Given the description of an element on the screen output the (x, y) to click on. 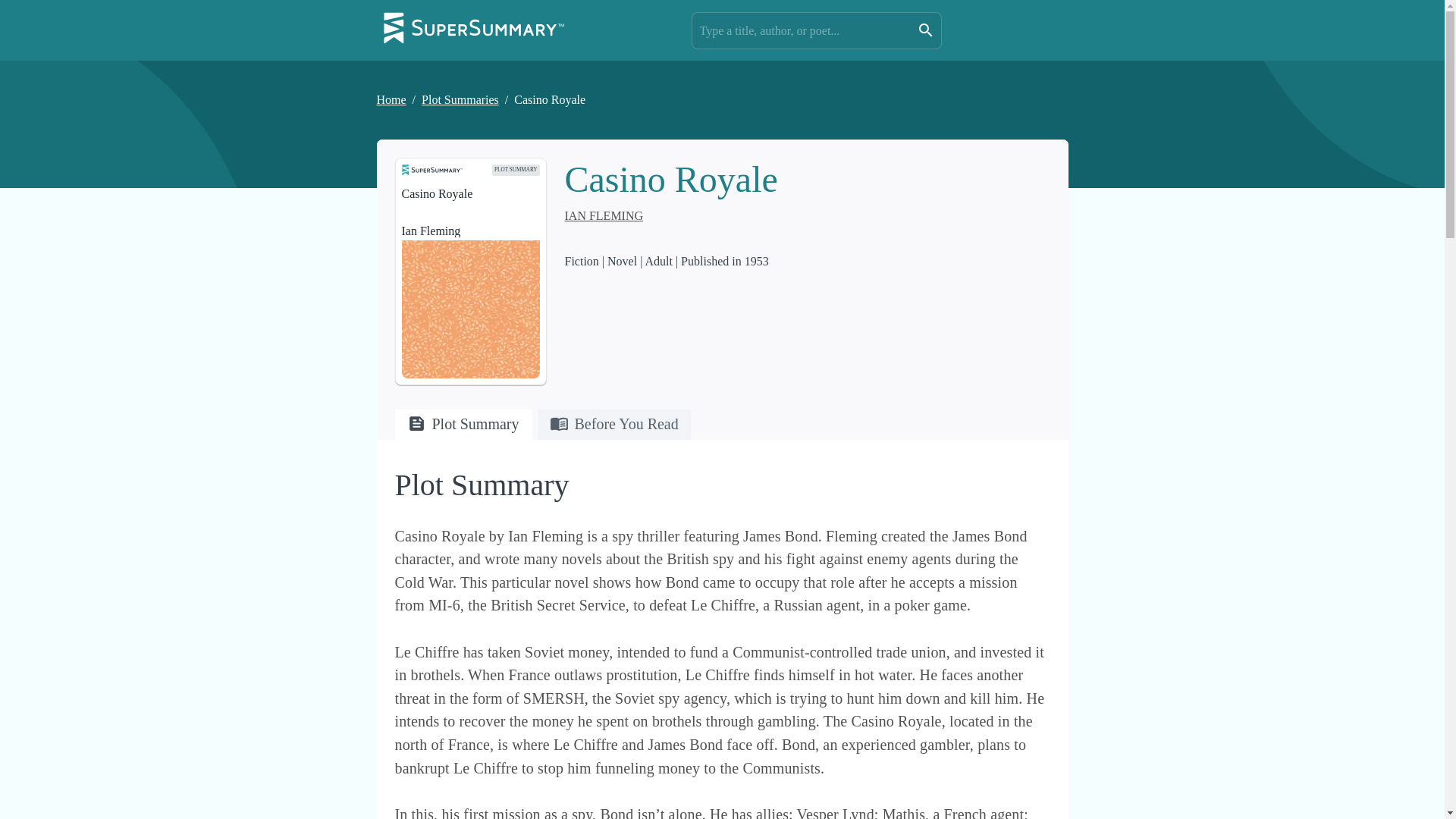
Plot Summaries (460, 99)
Before You Read (613, 424)
Go to homepage (472, 29)
Plot Summary (462, 427)
Search (925, 30)
Before You Read (613, 427)
IAN FLEMING (603, 215)
Home (390, 99)
Plot Summary (462, 424)
